Given the description of an element on the screen output the (x, y) to click on. 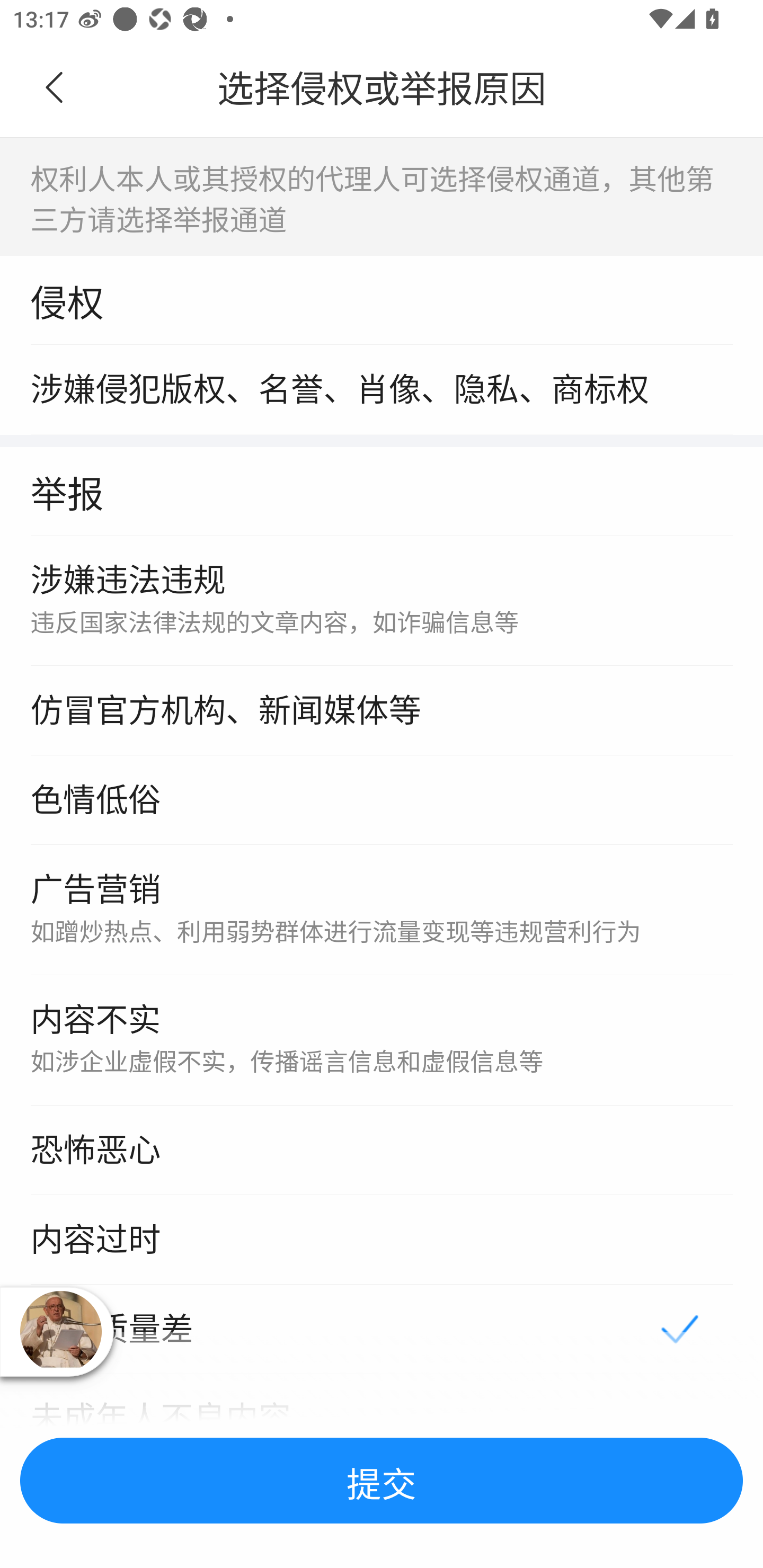
 返回 (54, 87)
选择侵权或举报原因 (381, 88)
涉嫌侵犯版权、名誉、肖像、隐私、商标权 (381, 389)
涉嫌违法违规 违反国家法律法规的文章内容，如诈骗信息等 (381, 600)
仿冒官方机构、新闻媒体等 (381, 710)
色情低俗 (381, 800)
广告营销 如蹭炒热点、利用弱势群体进行流量变现等违规营利行为 (381, 910)
内容不实 如涉企业虚假不实，传播谣言信息和虚假信息等 (381, 1041)
恐怖恶心 (381, 1150)
内容过时 (381, 1239)
播放器 (60, 1331)
提交 (381, 1480)
